Given the description of an element on the screen output the (x, y) to click on. 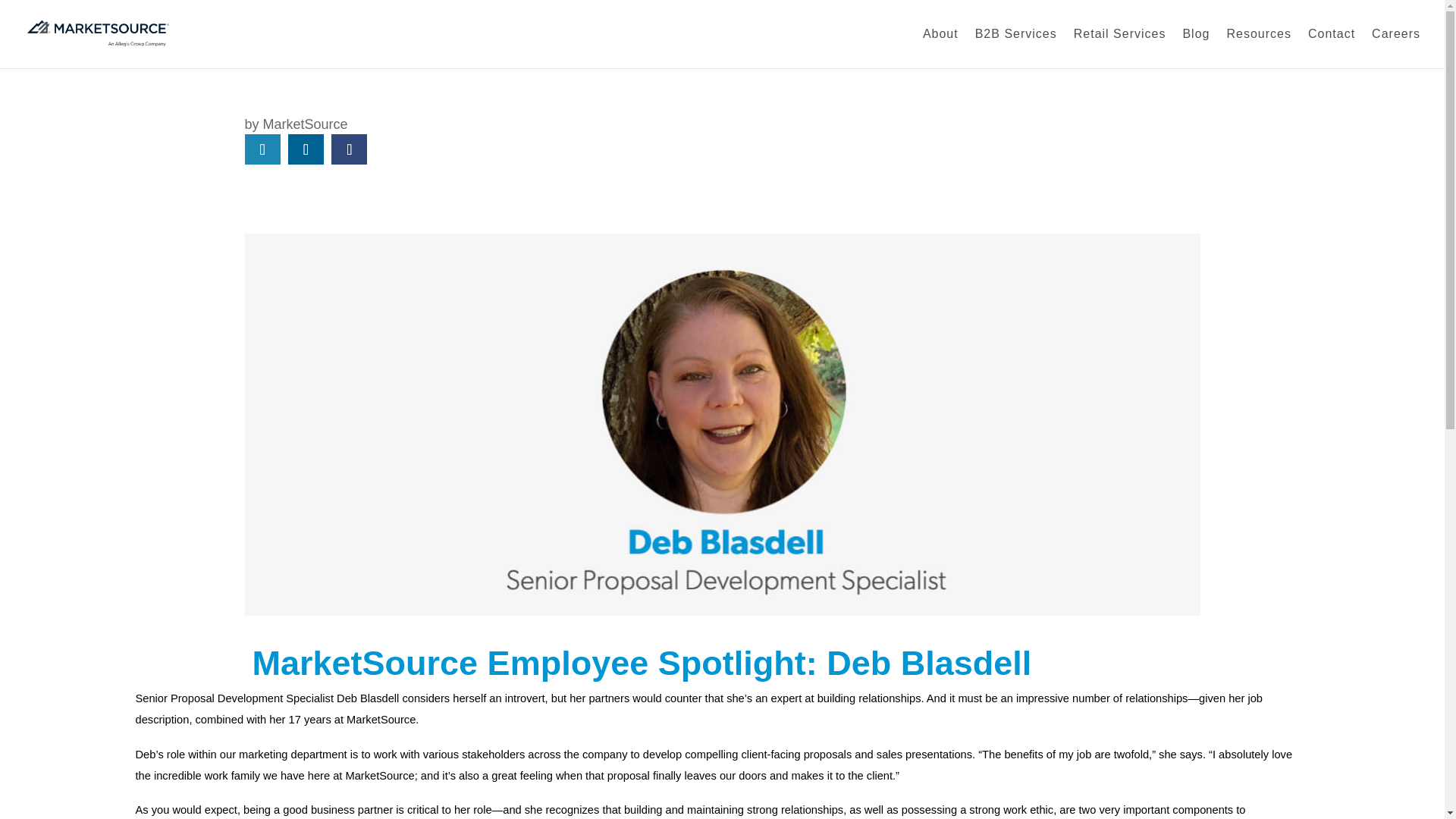
Resources (1257, 47)
Posts by MarketSource (305, 124)
MarketSource (305, 124)
Careers (1396, 47)
Retail Services (1120, 47)
About (940, 47)
B2B Services (1016, 47)
Contact (1331, 47)
